Given the description of an element on the screen output the (x, y) to click on. 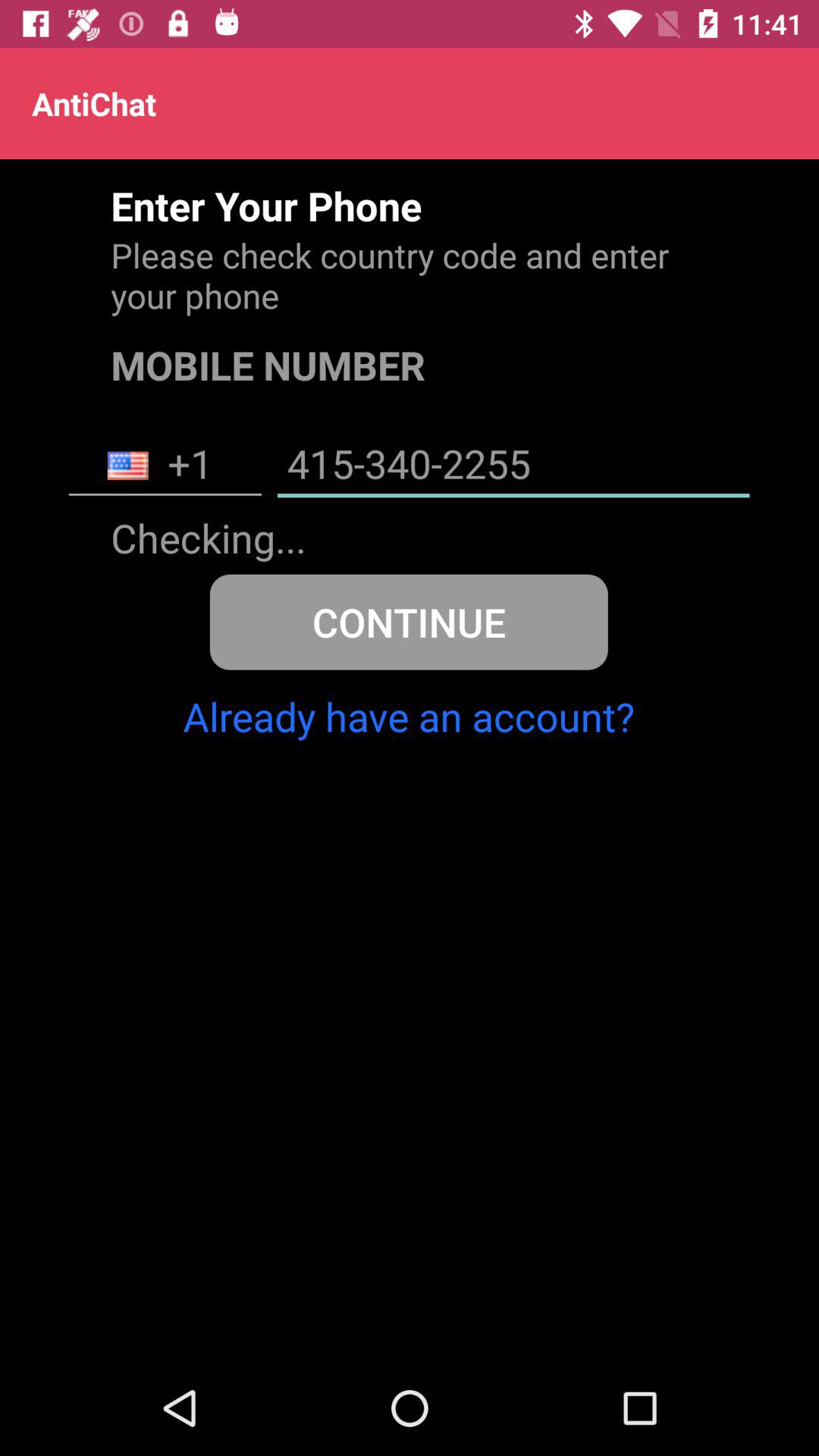
jump to continue (408, 621)
